Given the description of an element on the screen output the (x, y) to click on. 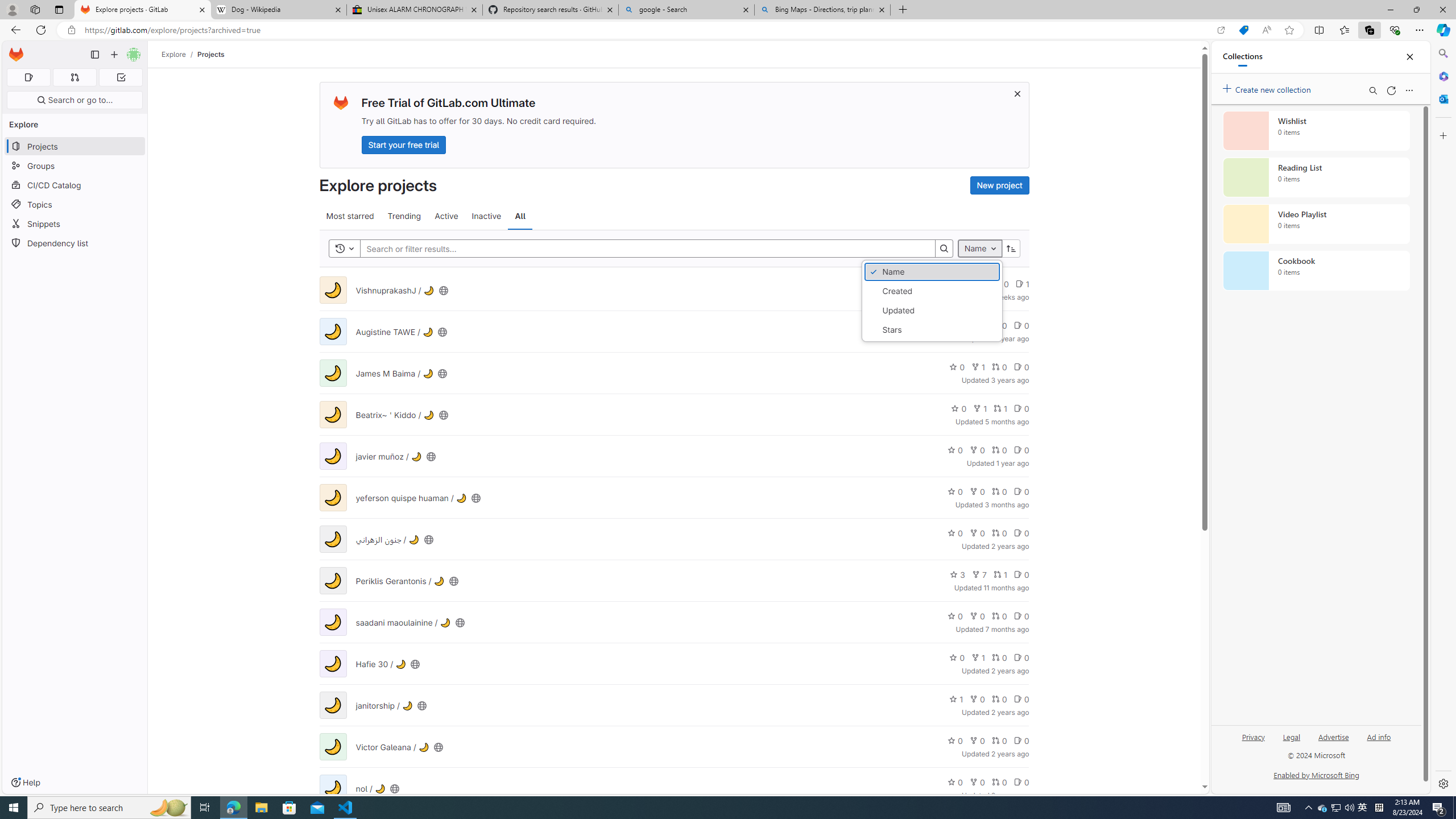
Dependency list (74, 242)
Created (931, 290)
Dog - Wikipedia (277, 9)
Open in app (1220, 29)
2 (977, 325)
Video Playlist collection, 0 items (1316, 223)
